Given the description of an element on the screen output the (x, y) to click on. 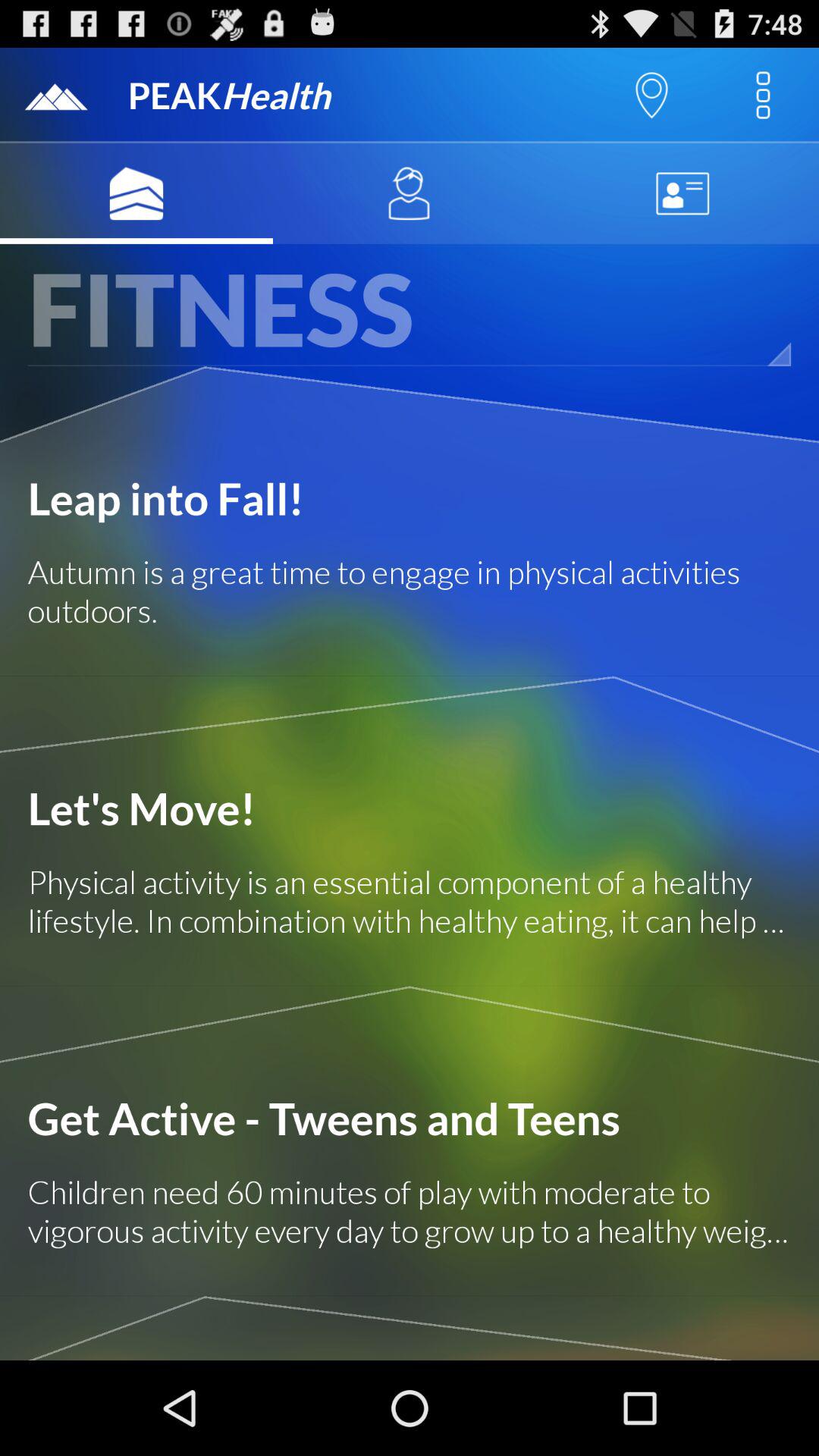
account information (682, 193)
